Given the description of an element on the screen output the (x, y) to click on. 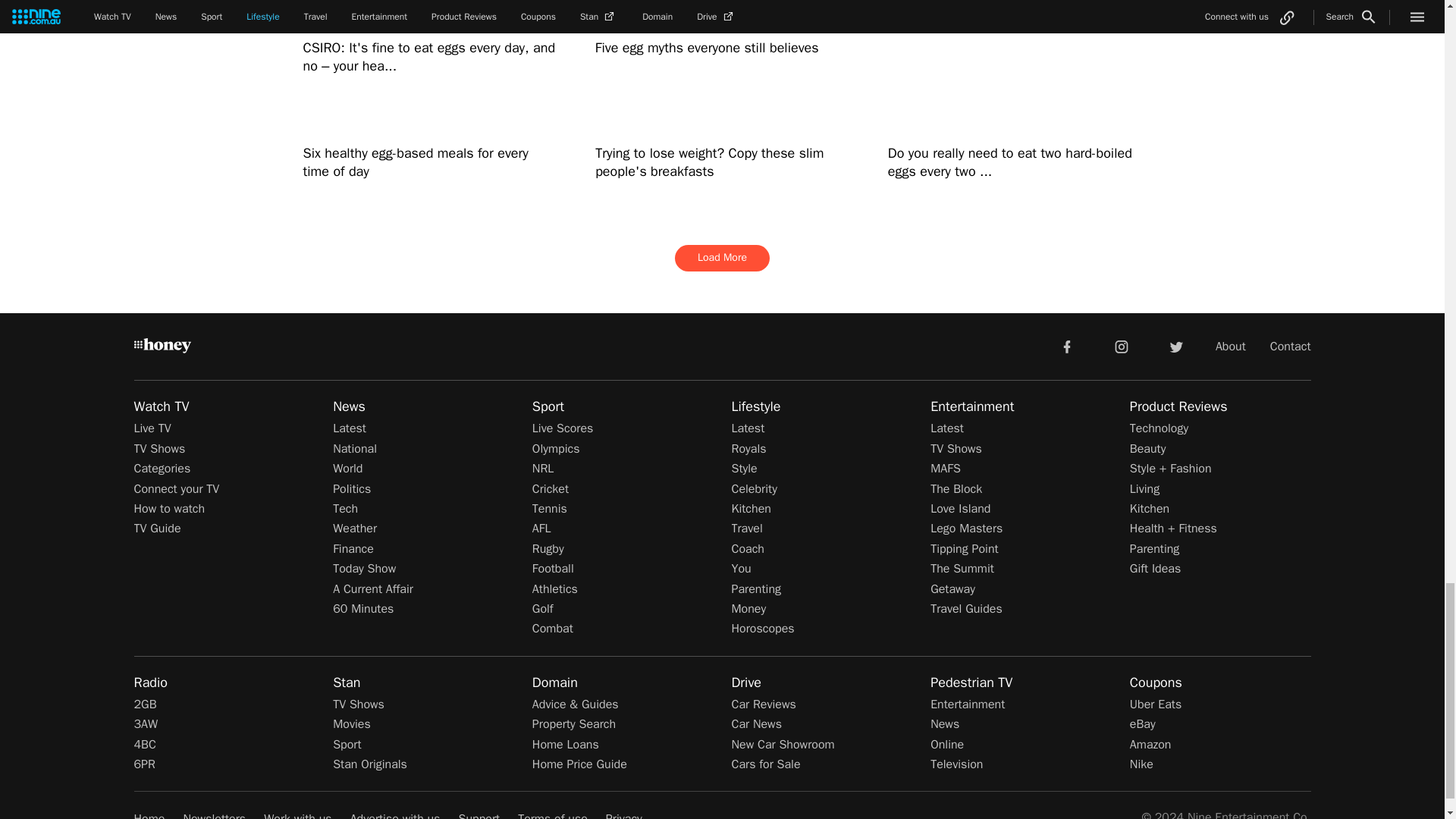
instagram (1121, 346)
facebook (1066, 346)
twitter (1175, 346)
